Given the description of an element on the screen output the (x, y) to click on. 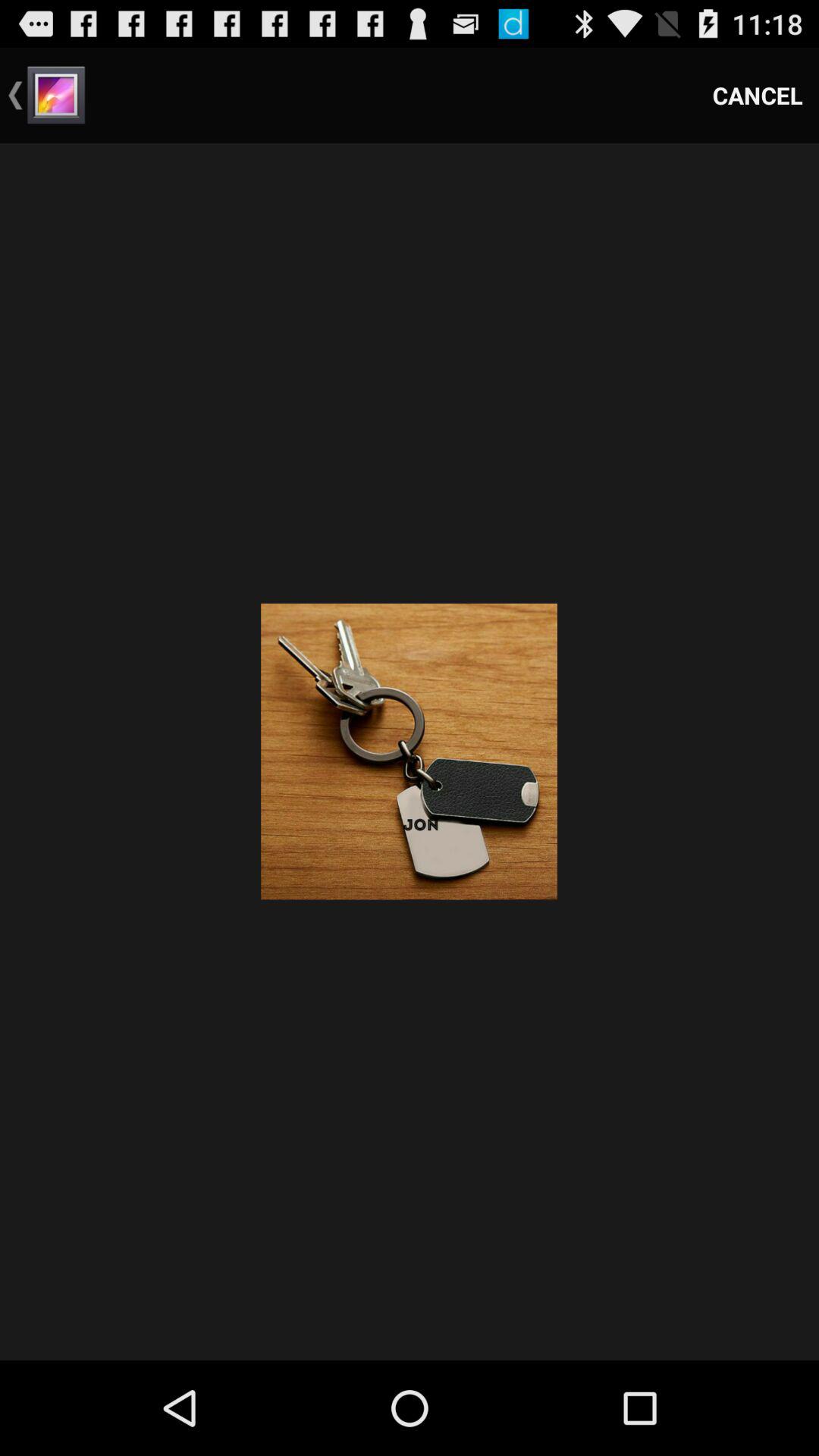
click cancel icon (757, 95)
